Given the description of an element on the screen output the (x, y) to click on. 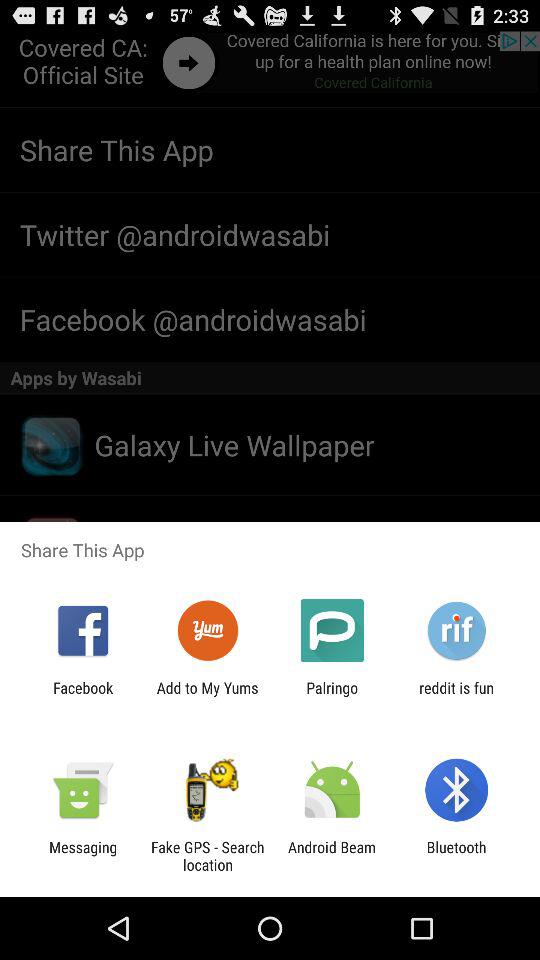
launch item to the right of fake gps search icon (332, 856)
